Given the description of an element on the screen output the (x, y) to click on. 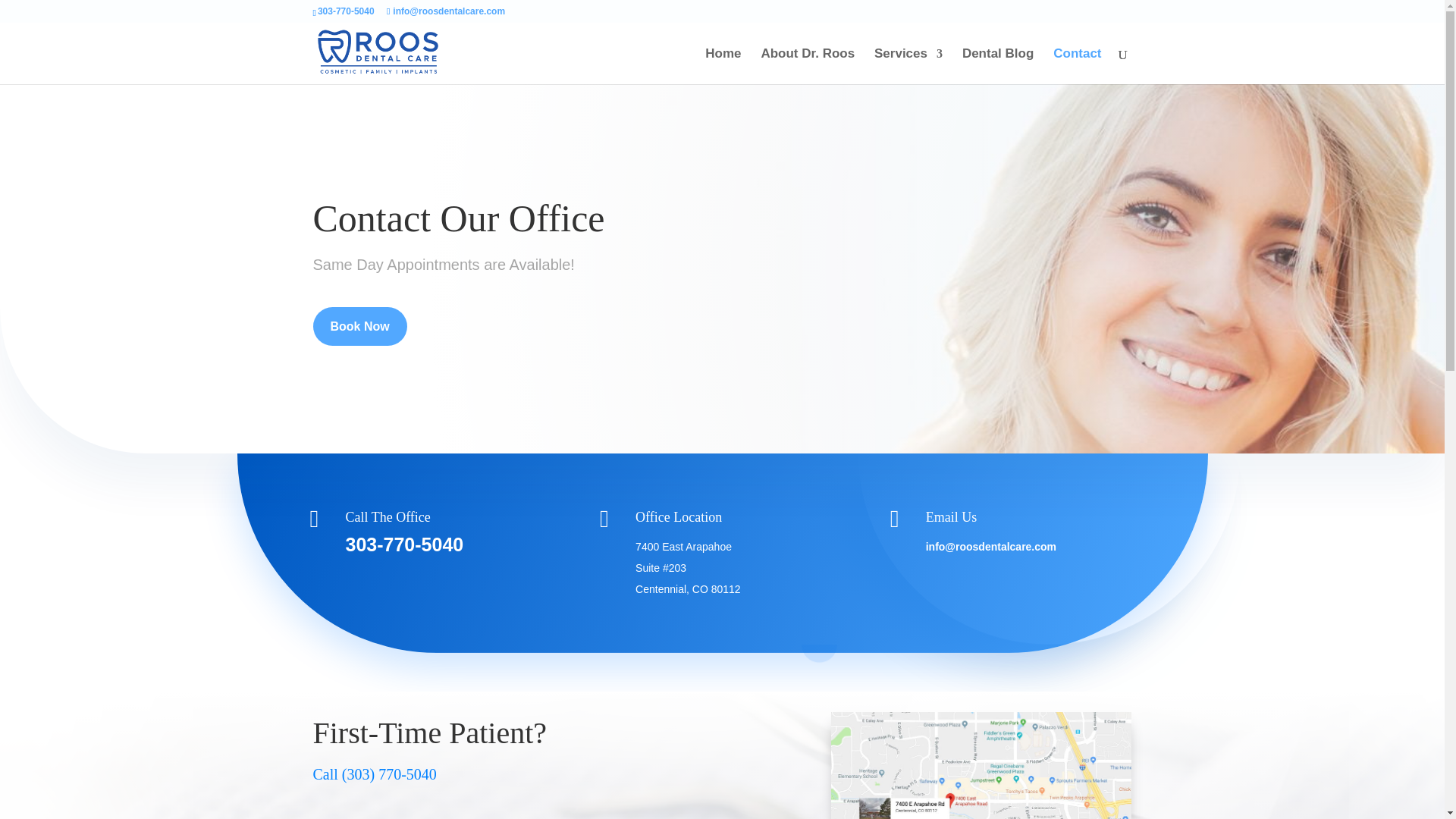
Home (722, 66)
Contact (1076, 66)
Services (908, 66)
Dental Blog (997, 66)
About Dr. Roos (807, 66)
